Given the description of an element on the screen output the (x, y) to click on. 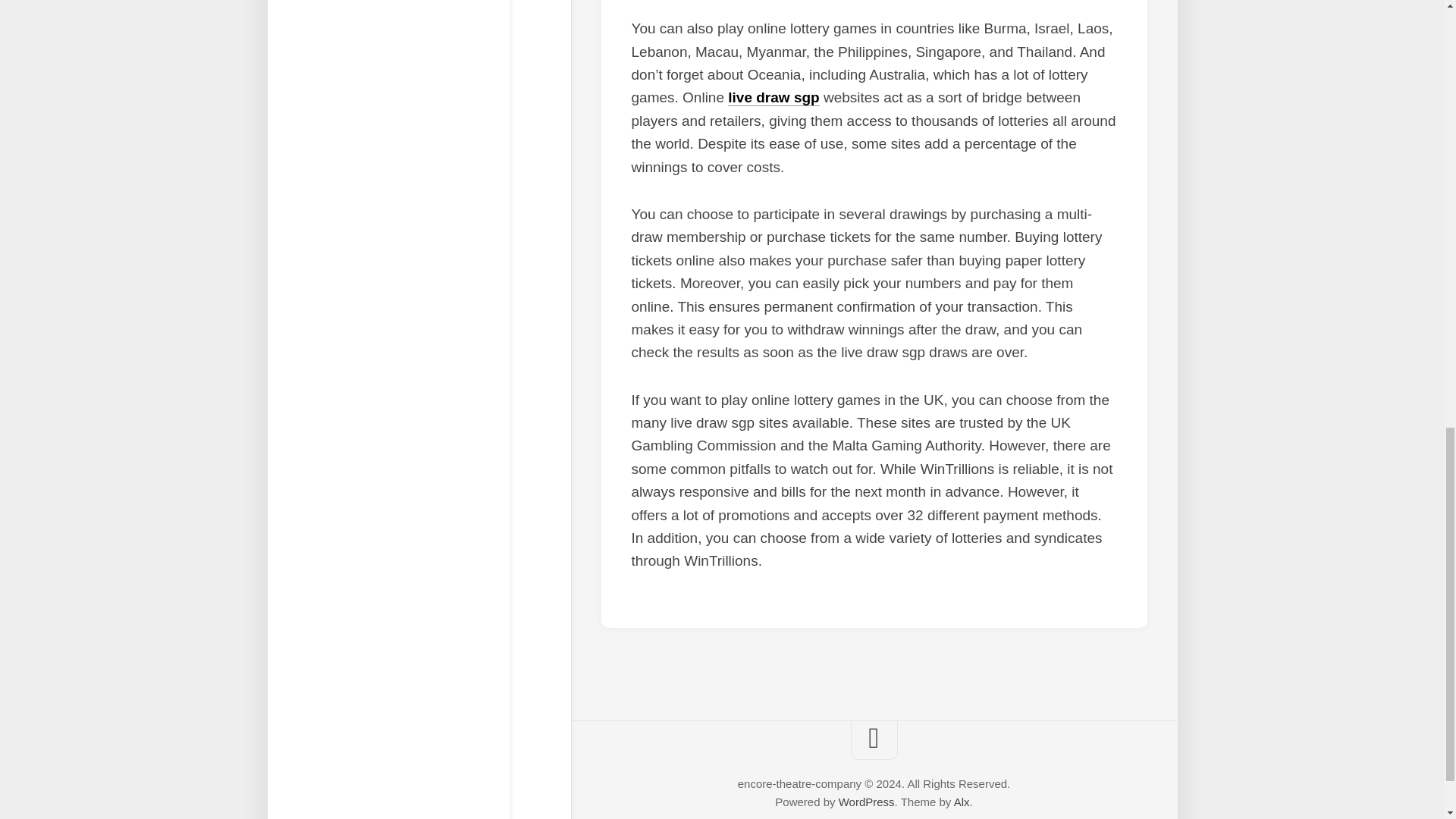
live draw sgp (773, 97)
WordPress (866, 801)
Alx (961, 801)
